Given the description of an element on the screen output the (x, y) to click on. 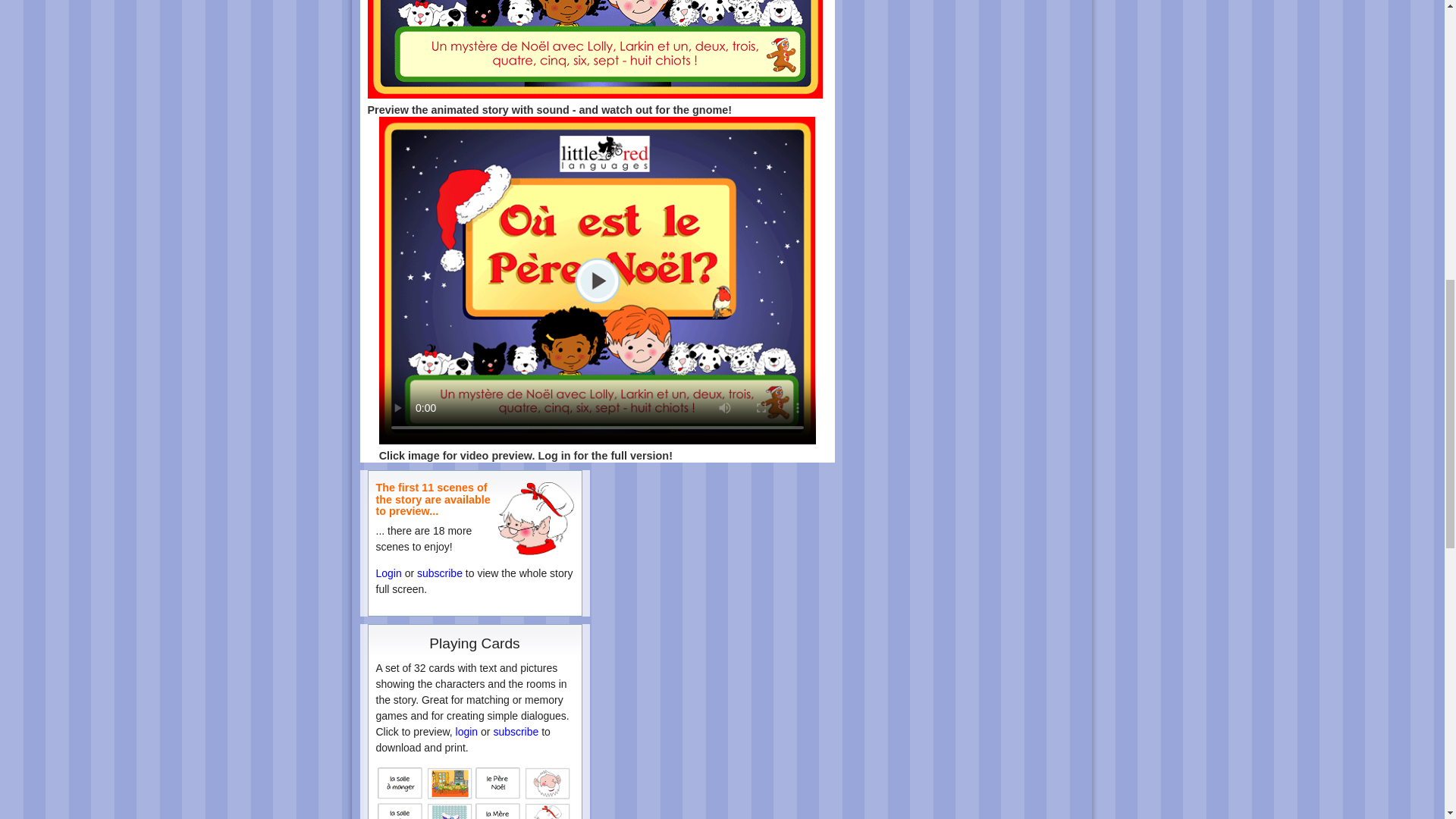
subscribe (515, 731)
login (467, 731)
Login (388, 573)
subscribe (439, 573)
